Given the description of an element on the screen output the (x, y) to click on. 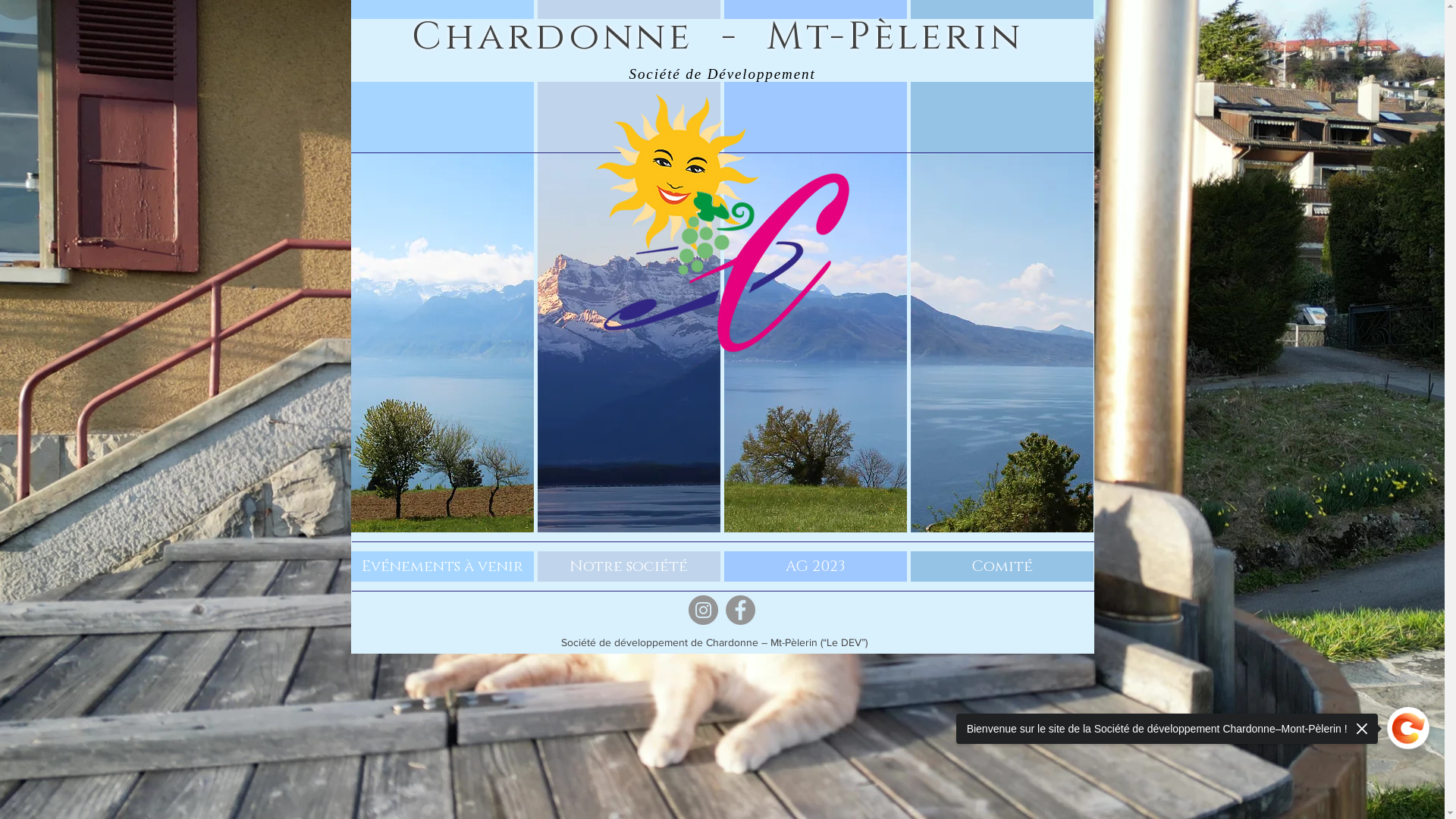
AG 2023 Element type: text (814, 566)
